Given the description of an element on the screen output the (x, y) to click on. 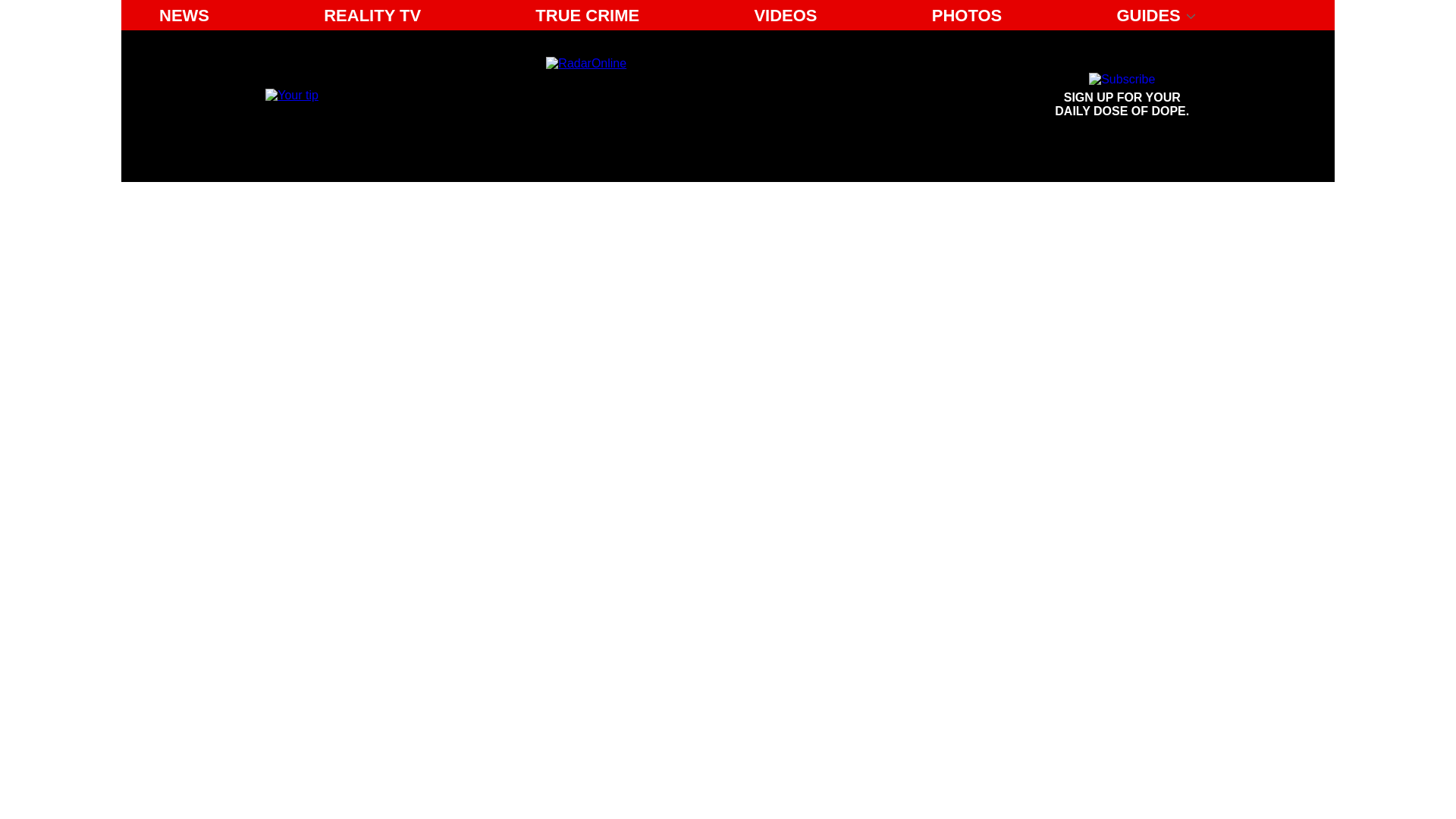
Radar Online (685, 95)
REALITY TV (371, 15)
TRUE CRIME (586, 15)
PHOTOS (967, 15)
Sign up for your daily dose of dope. (1122, 94)
VIDEOS (1122, 94)
NEWS (784, 15)
Email us your tip (183, 15)
